Given the description of an element on the screen output the (x, y) to click on. 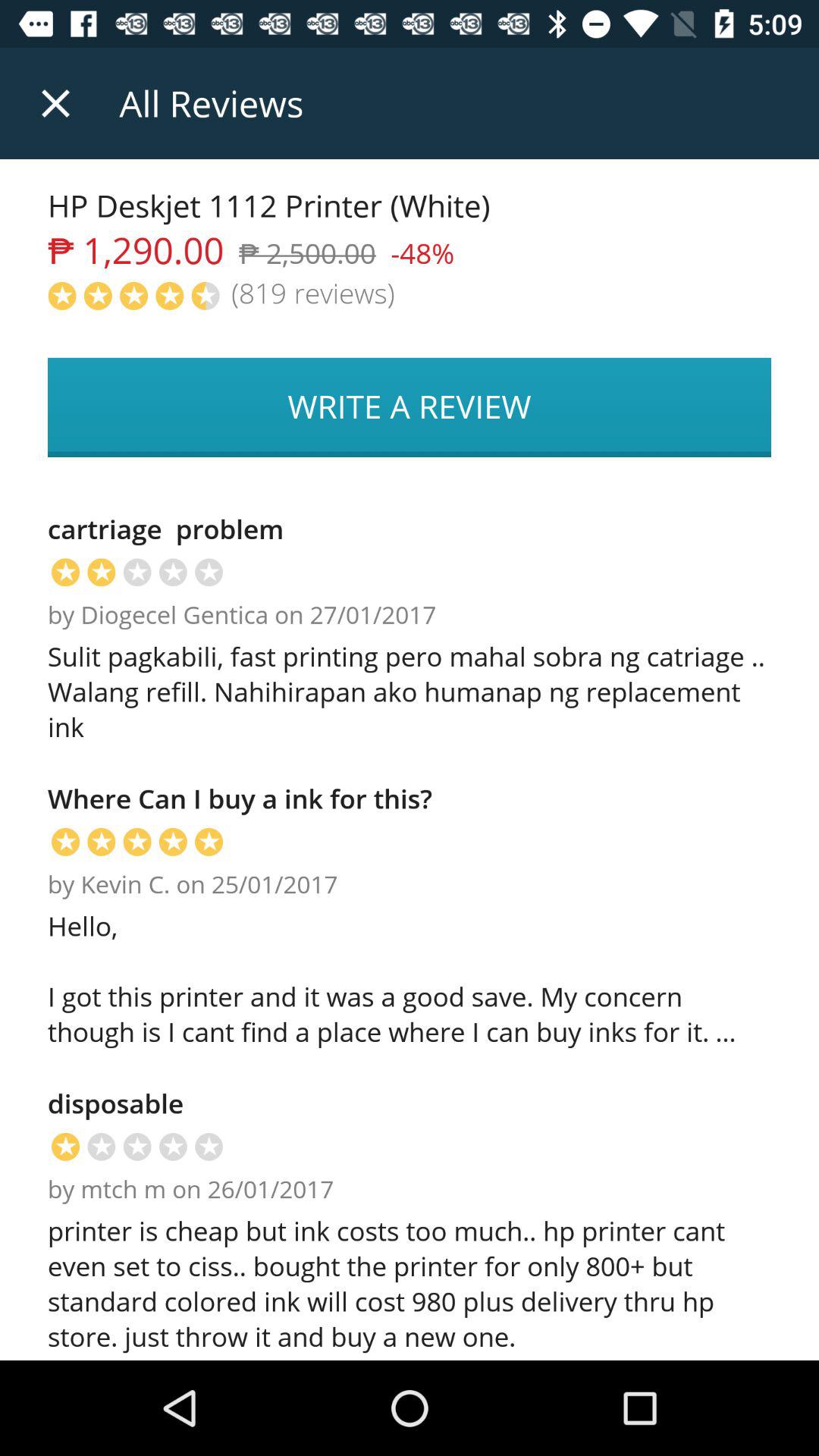
click item above the hp deskjet 1112 (55, 103)
